Given the description of an element on the screen output the (x, y) to click on. 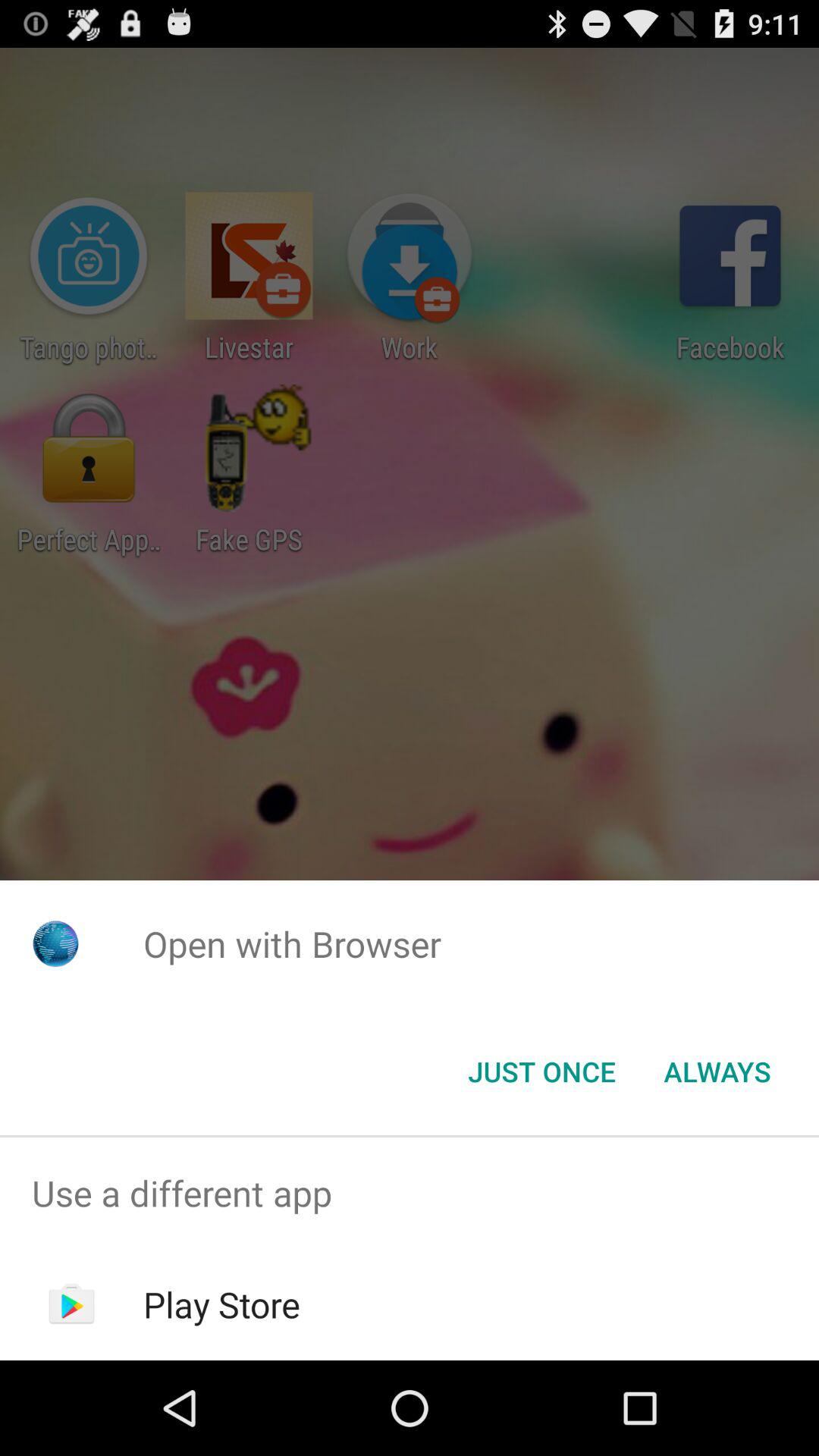
flip to the use a different app (409, 1192)
